Given the description of an element on the screen output the (x, y) to click on. 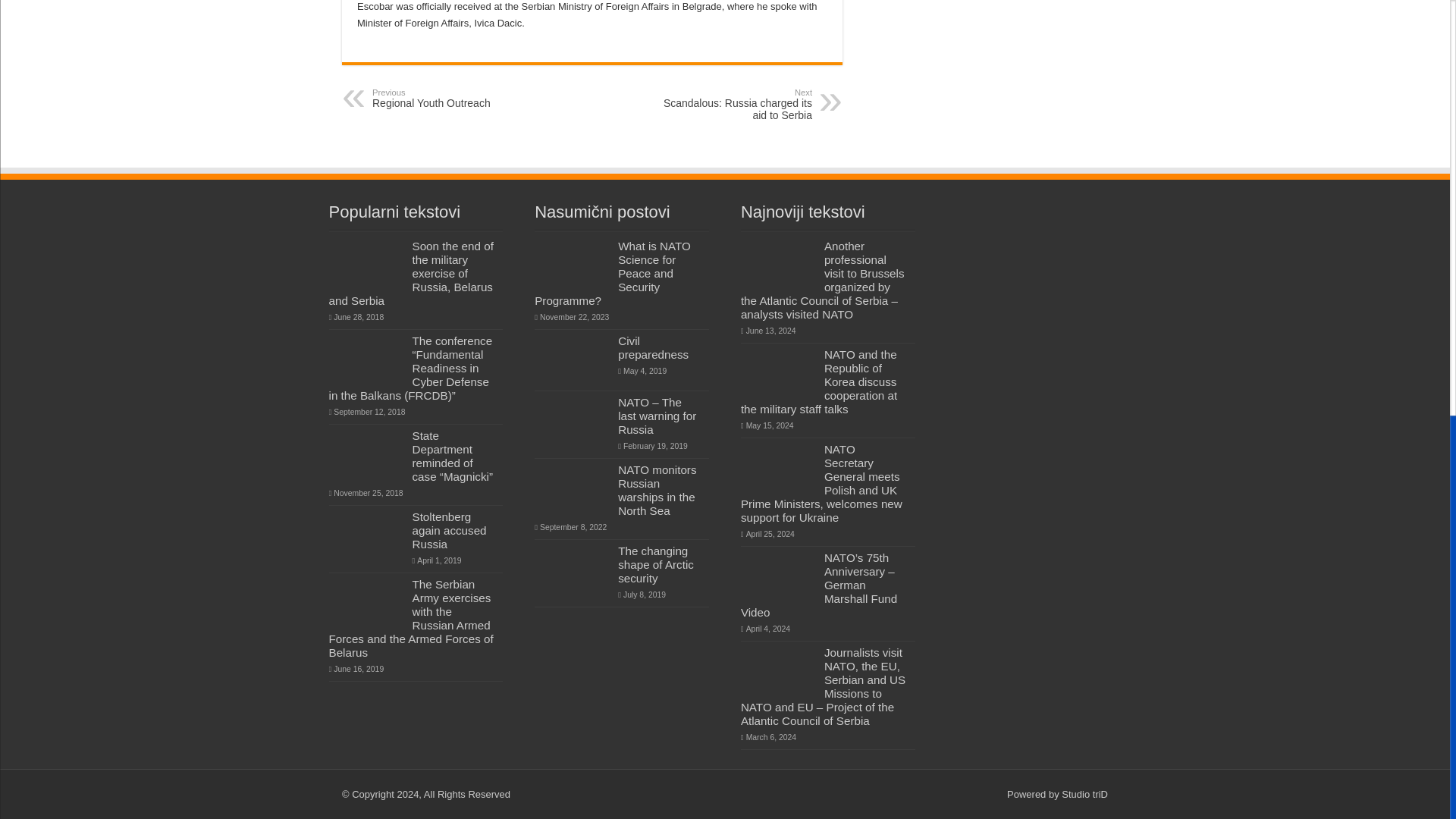
Scroll To Top (1427, 34)
